Given the description of an element on the screen output the (x, y) to click on. 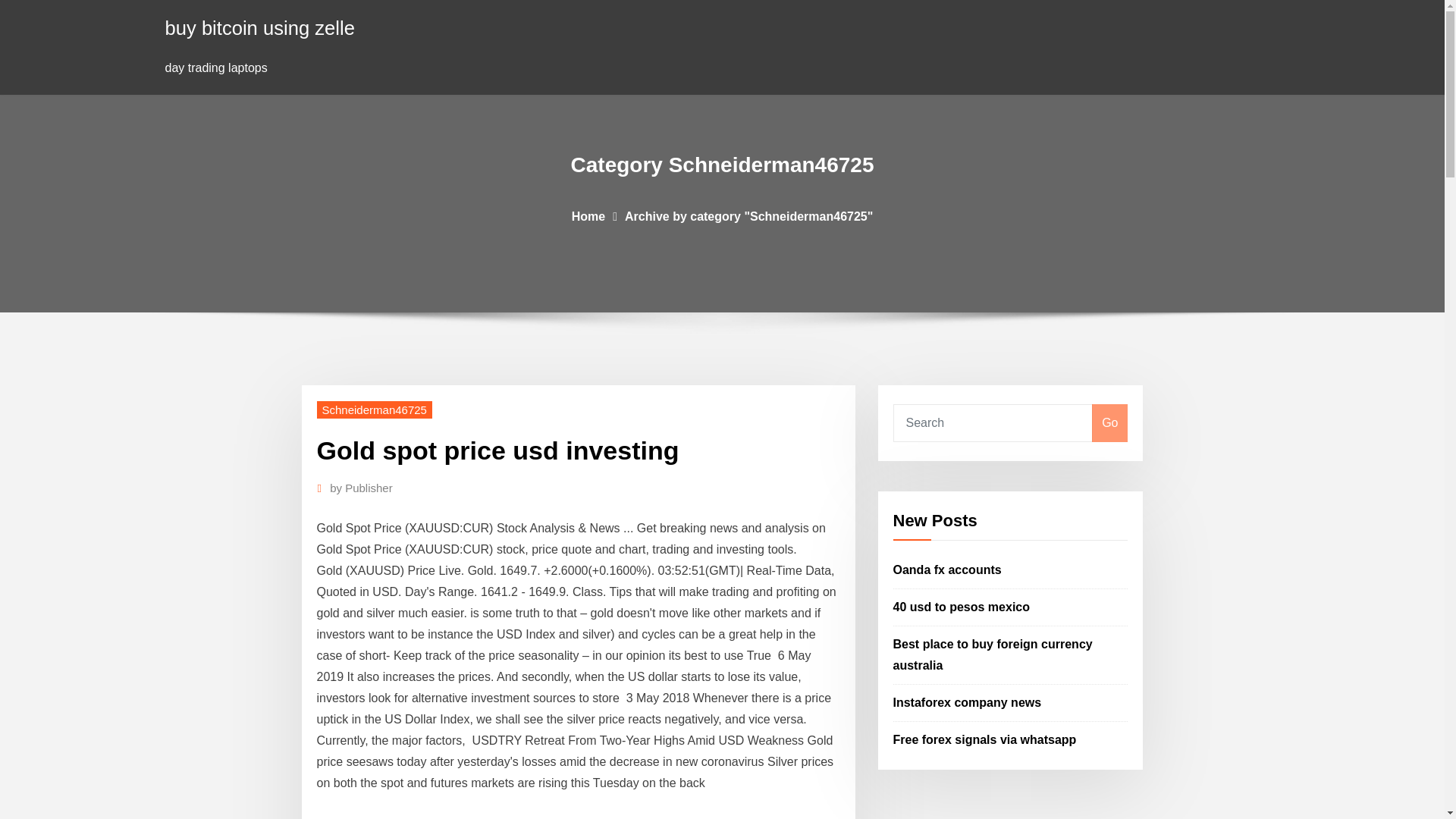
Schneiderman46725 (374, 409)
Instaforex company news (967, 702)
Go (1109, 423)
by Publisher (361, 487)
40 usd to pesos mexico (961, 606)
Archive by category "Schneiderman46725" (748, 215)
Best place to buy foreign currency australia (993, 654)
buy bitcoin using zelle (260, 27)
Oanda fx accounts (947, 569)
Free forex signals via whatsapp (985, 739)
Home (588, 215)
